Given the description of an element on the screen output the (x, y) to click on. 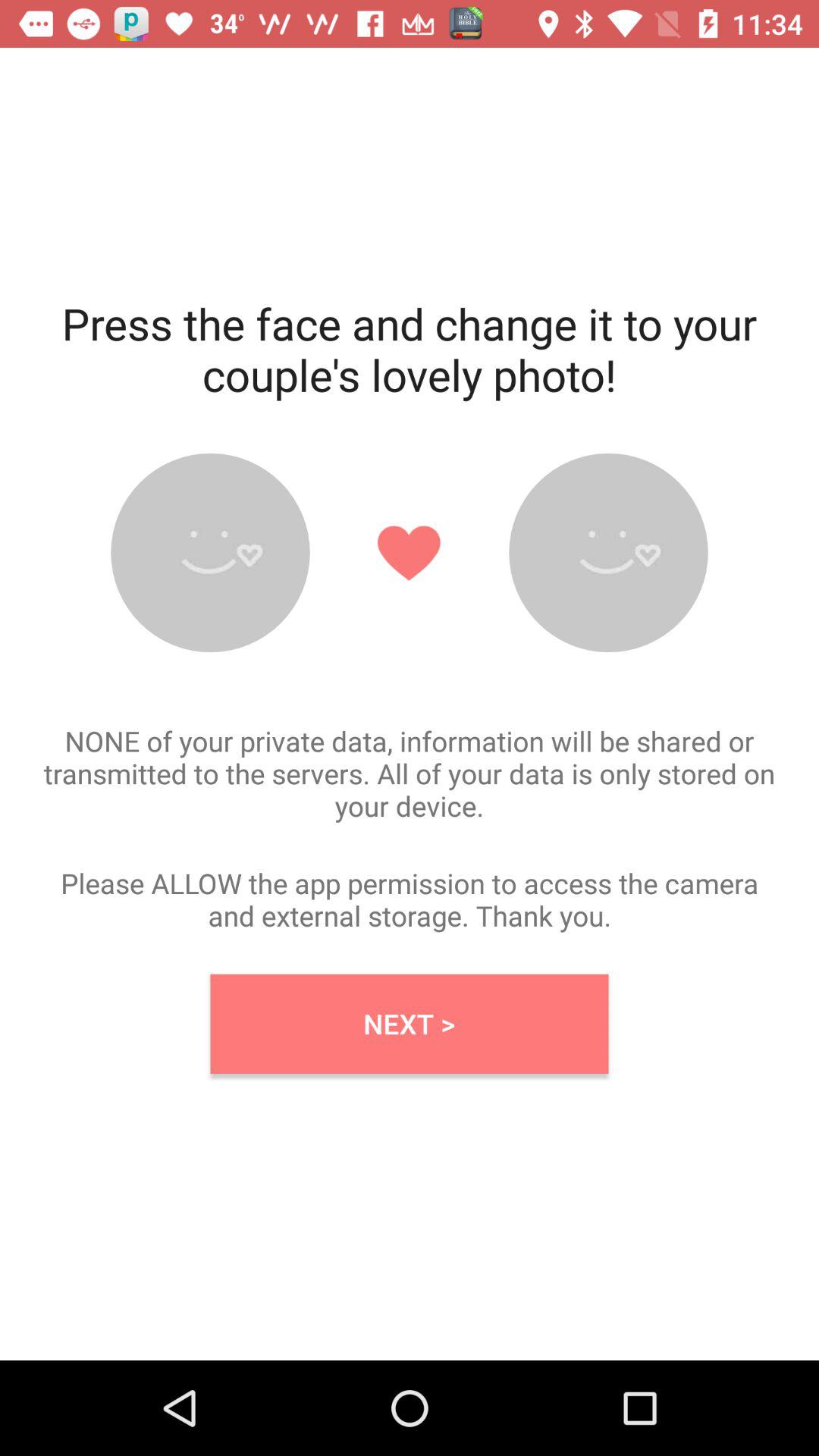
launch next > icon (409, 1023)
